Given the description of an element on the screen output the (x, y) to click on. 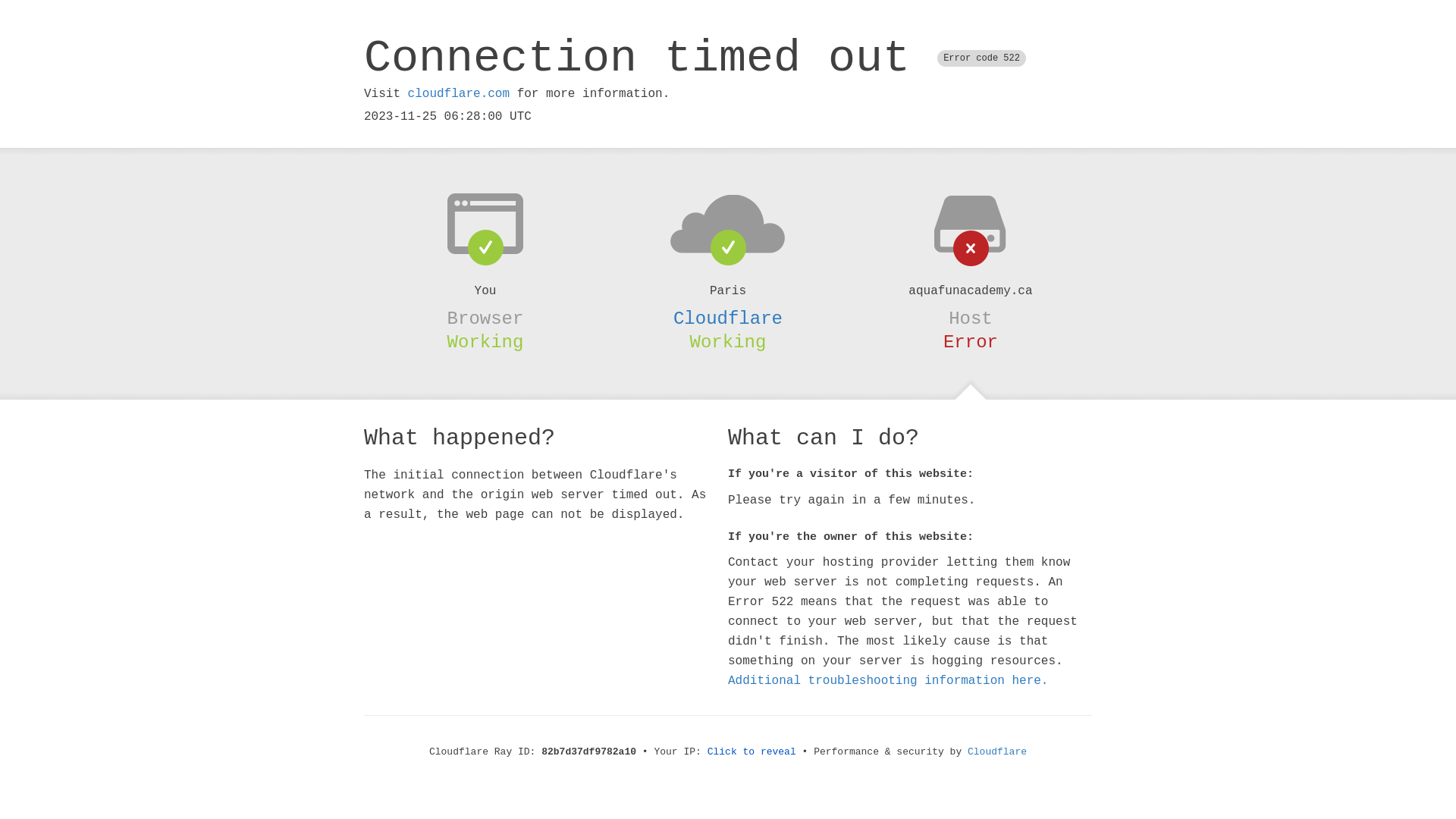
cloudflare.com Element type: text (458, 93)
Additional troubleshooting information here. Element type: text (888, 680)
Cloudflare Element type: text (996, 751)
Cloudflare Element type: text (727, 318)
Click to reveal Element type: text (751, 751)
